Given the description of an element on the screen output the (x, y) to click on. 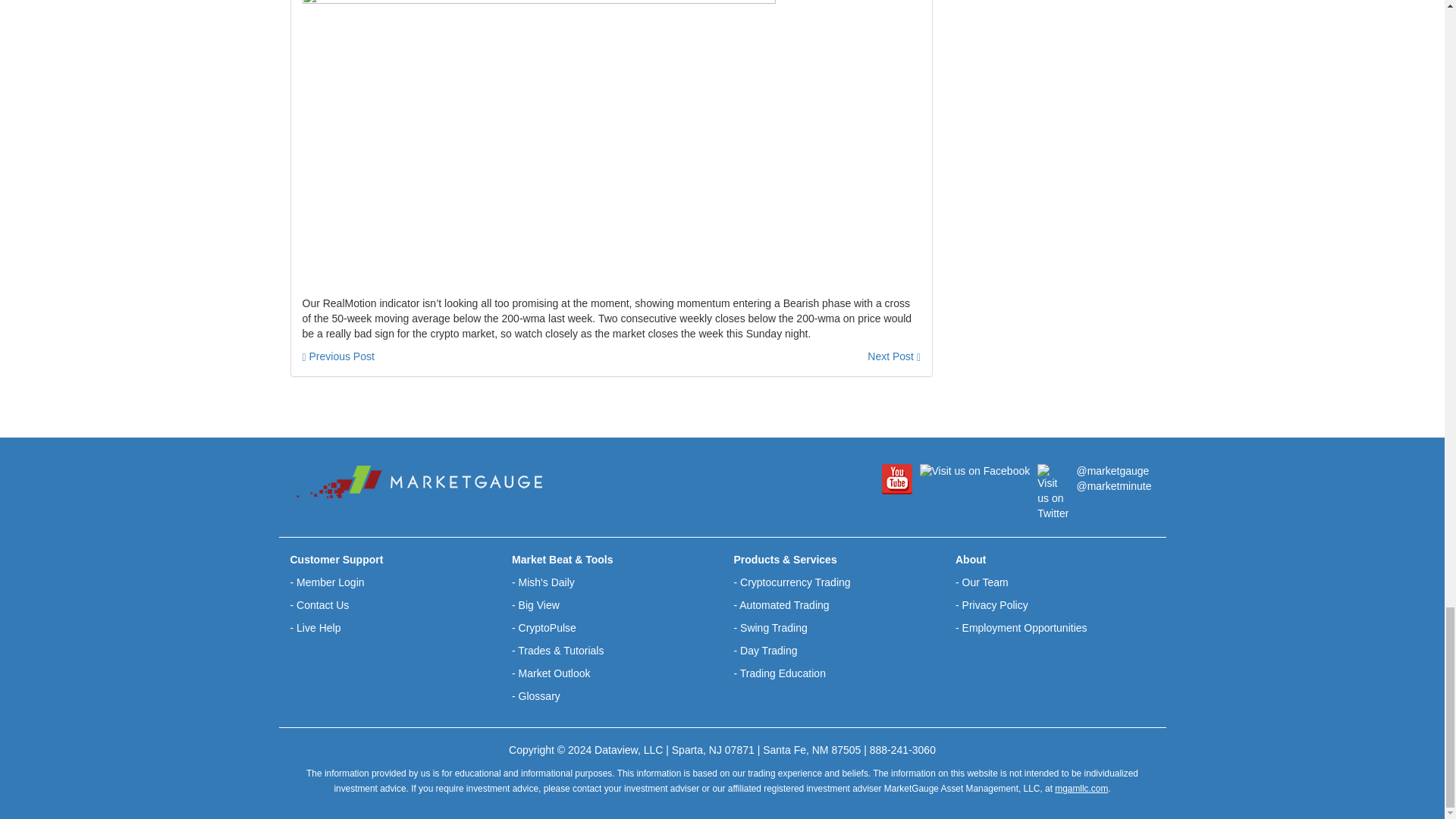
Visit us on Facebook (973, 471)
Visit us on YouTube (895, 479)
MarketGauge.com (418, 482)
